Given the description of an element on the screen output the (x, y) to click on. 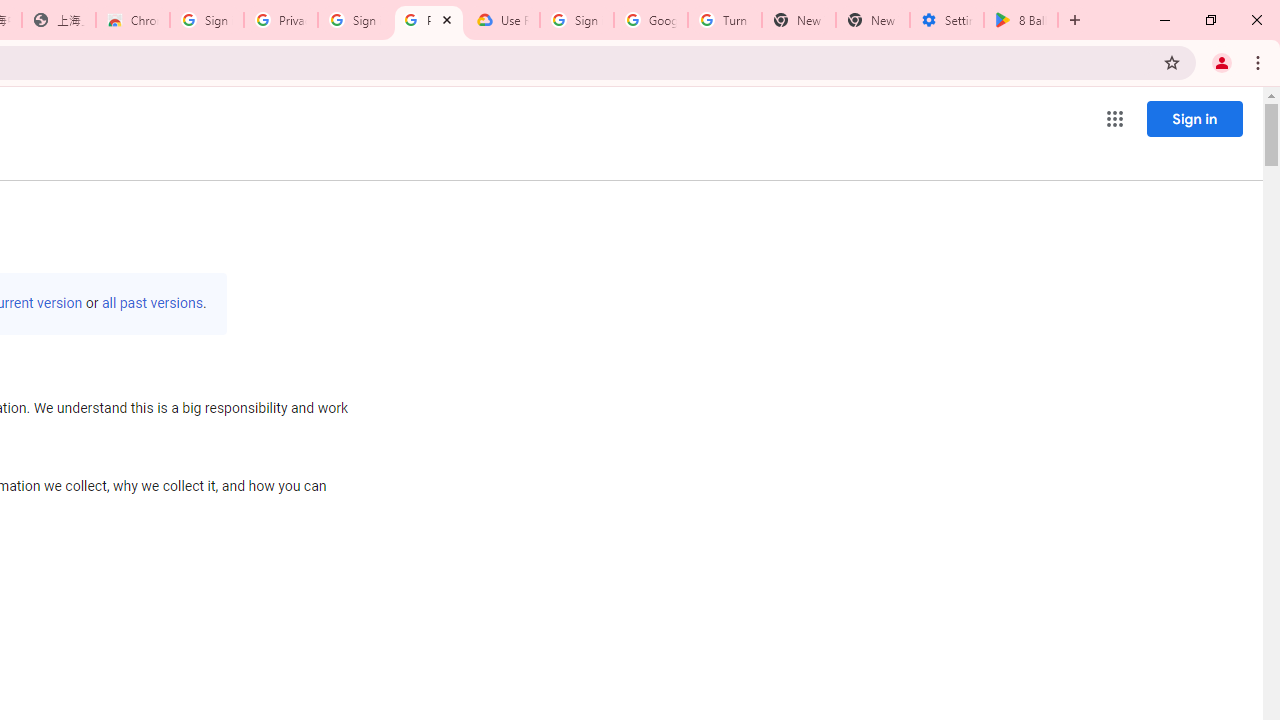
Sign in - Google Accounts (354, 20)
Sign in - Google Accounts (577, 20)
